Given the description of an element on the screen output the (x, y) to click on. 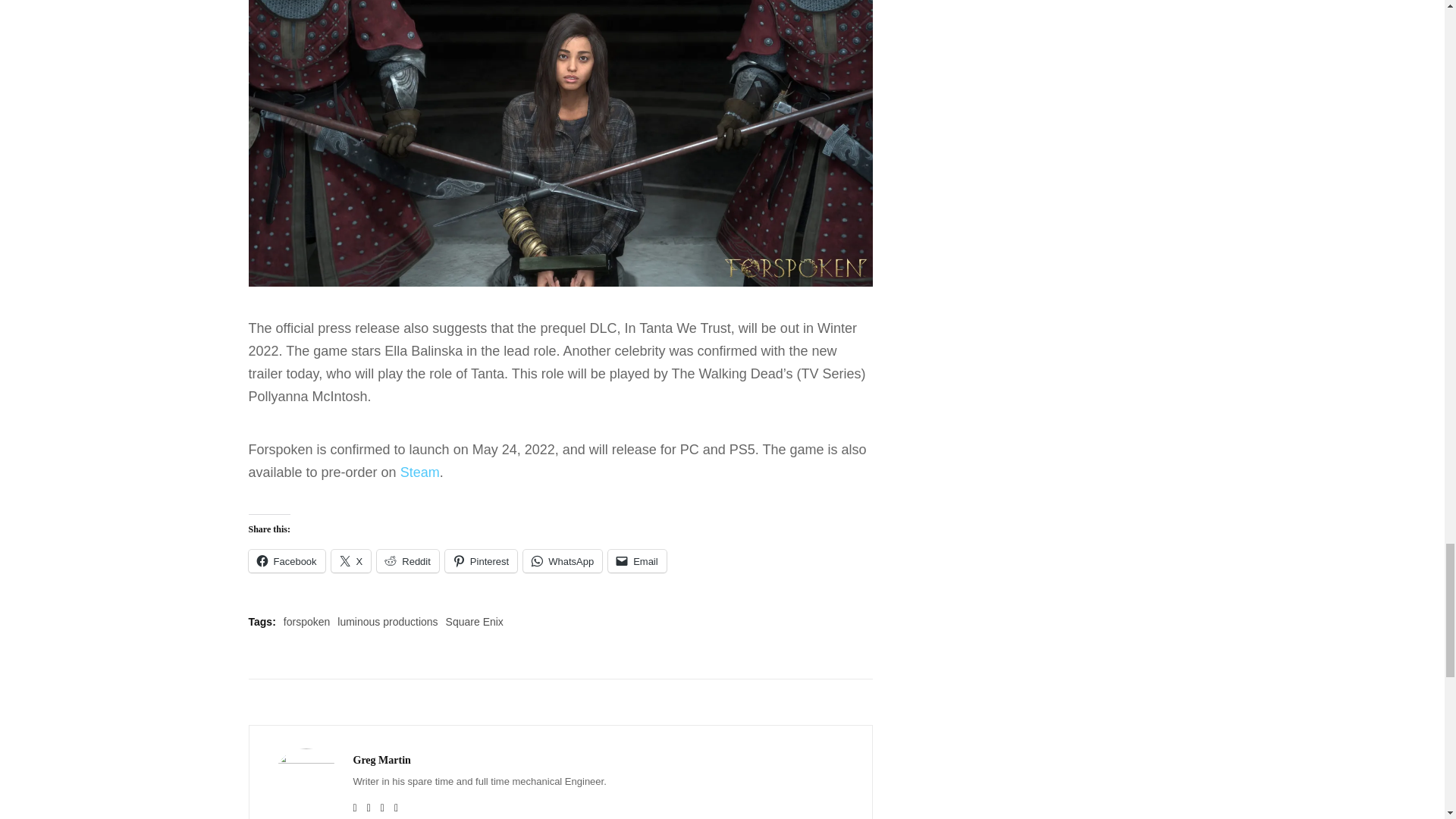
Greg Martin (381, 760)
X (351, 559)
Square Enix (474, 621)
Facebook (286, 559)
luminous productions (387, 621)
WhatsApp (562, 559)
Click to share on WhatsApp (562, 559)
Click to share on X (351, 559)
forspoken (306, 621)
Email (637, 559)
Click to share on Pinterest (480, 559)
Click to share on Facebook (286, 559)
Pinterest (480, 559)
Reddit (408, 559)
Click to share on Reddit (408, 559)
